Given the description of an element on the screen output the (x, y) to click on. 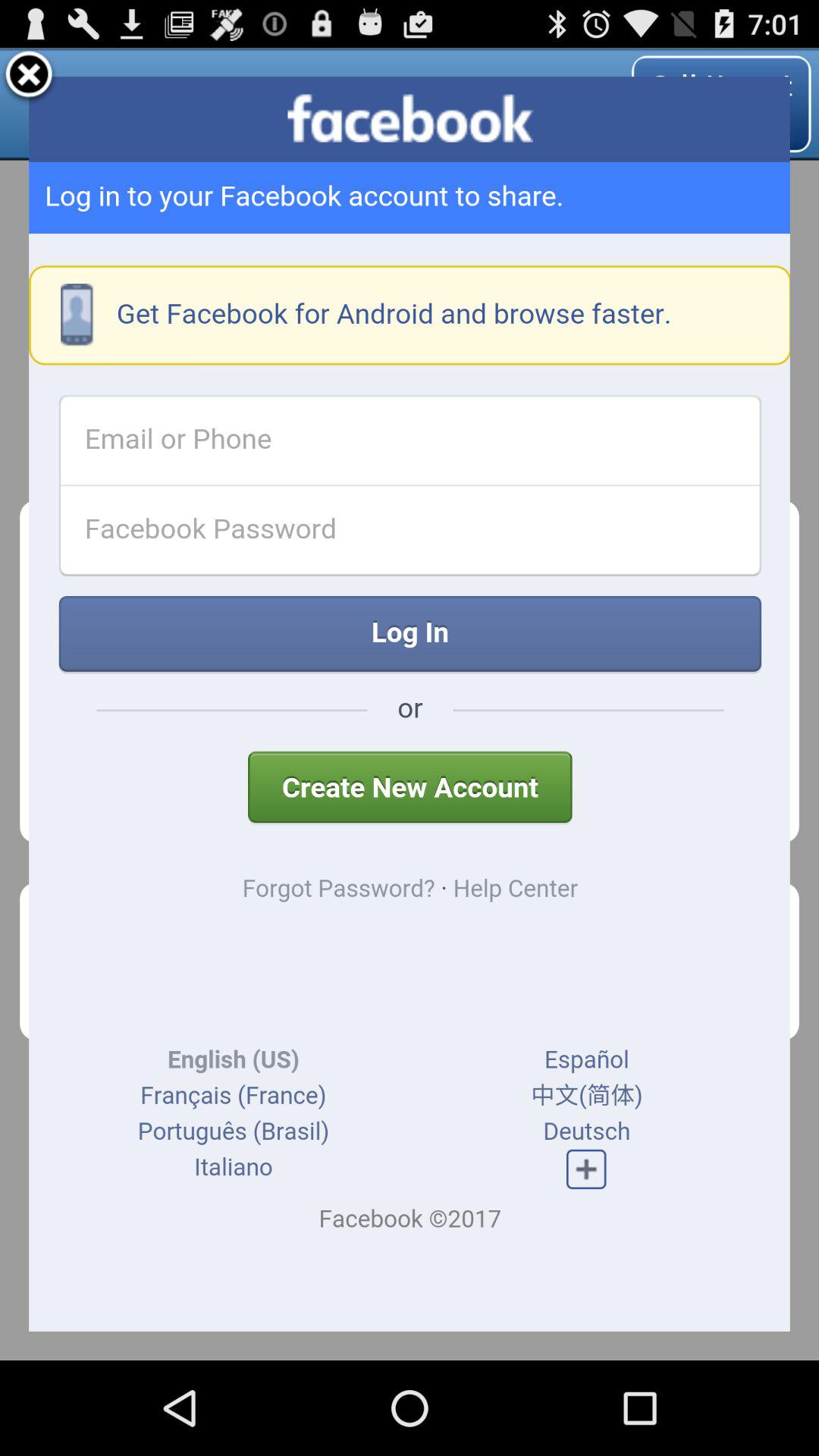
close the page (29, 76)
